Given the description of an element on the screen output the (x, y) to click on. 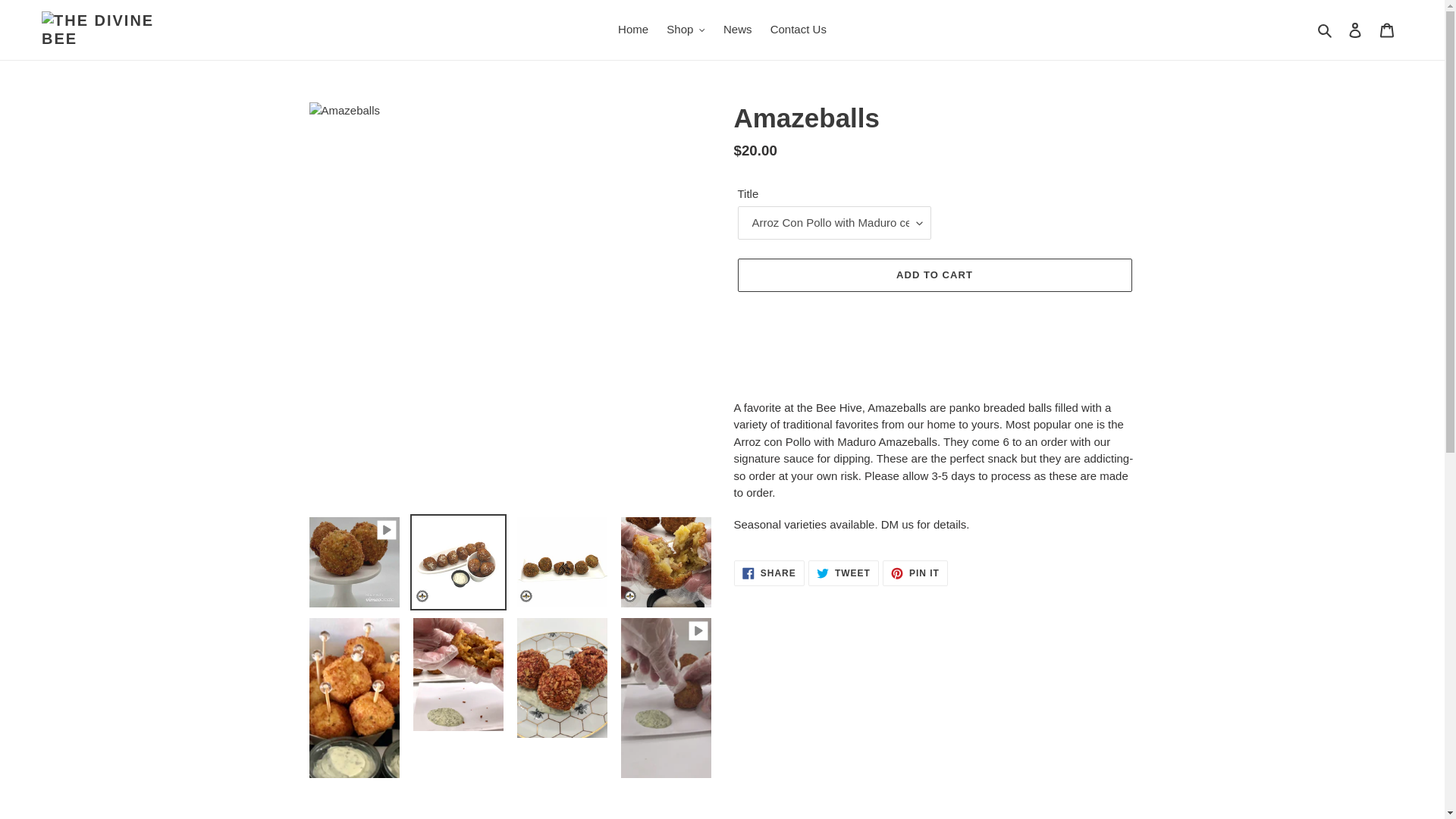
Home (633, 29)
News (738, 29)
Contact Us (798, 29)
Shop (686, 29)
Search (1326, 29)
Cart (1387, 29)
Log in (1355, 29)
